Given the description of an element on the screen output the (x, y) to click on. 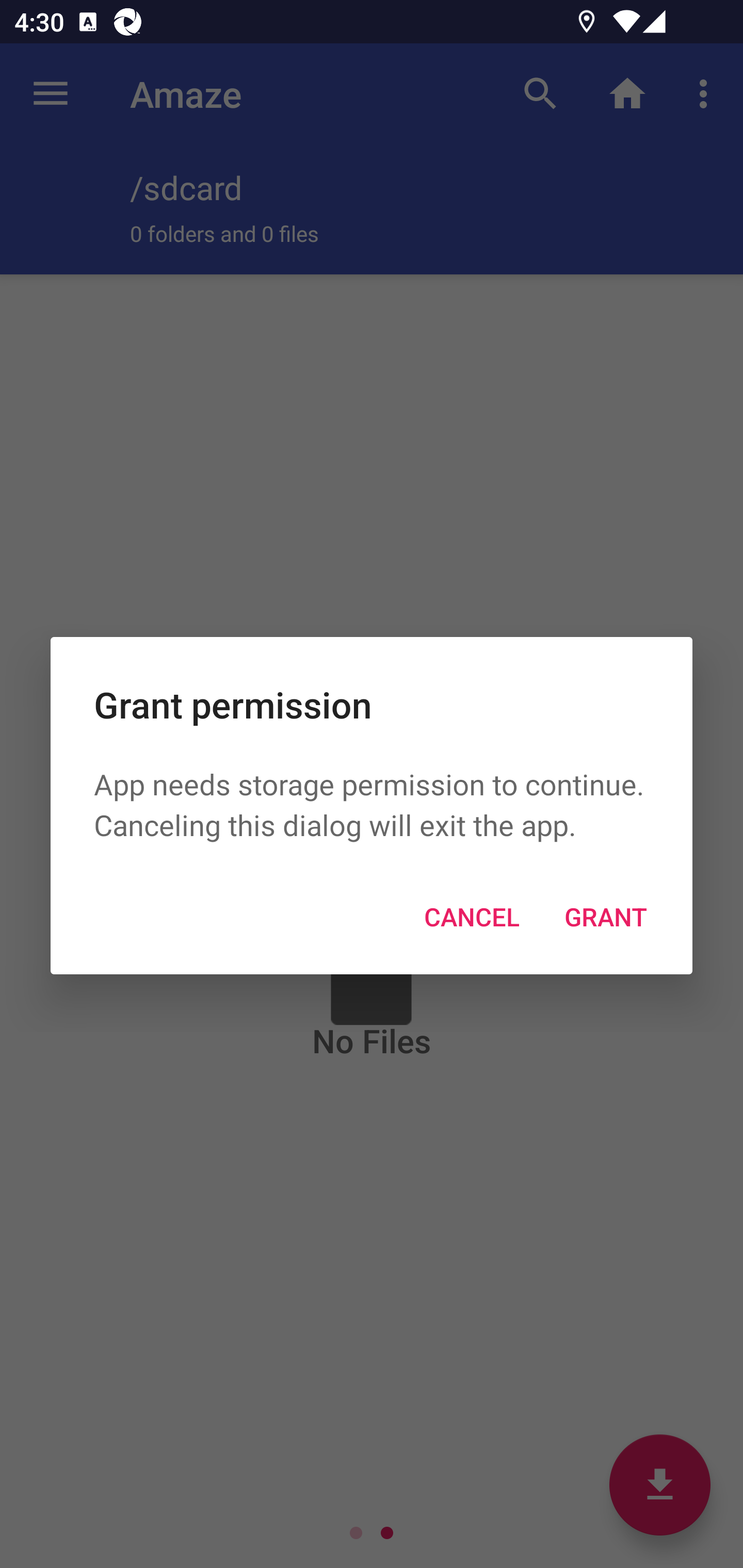
CANCEL (470, 916)
GRANT (605, 916)
